Given the description of an element on the screen output the (x, y) to click on. 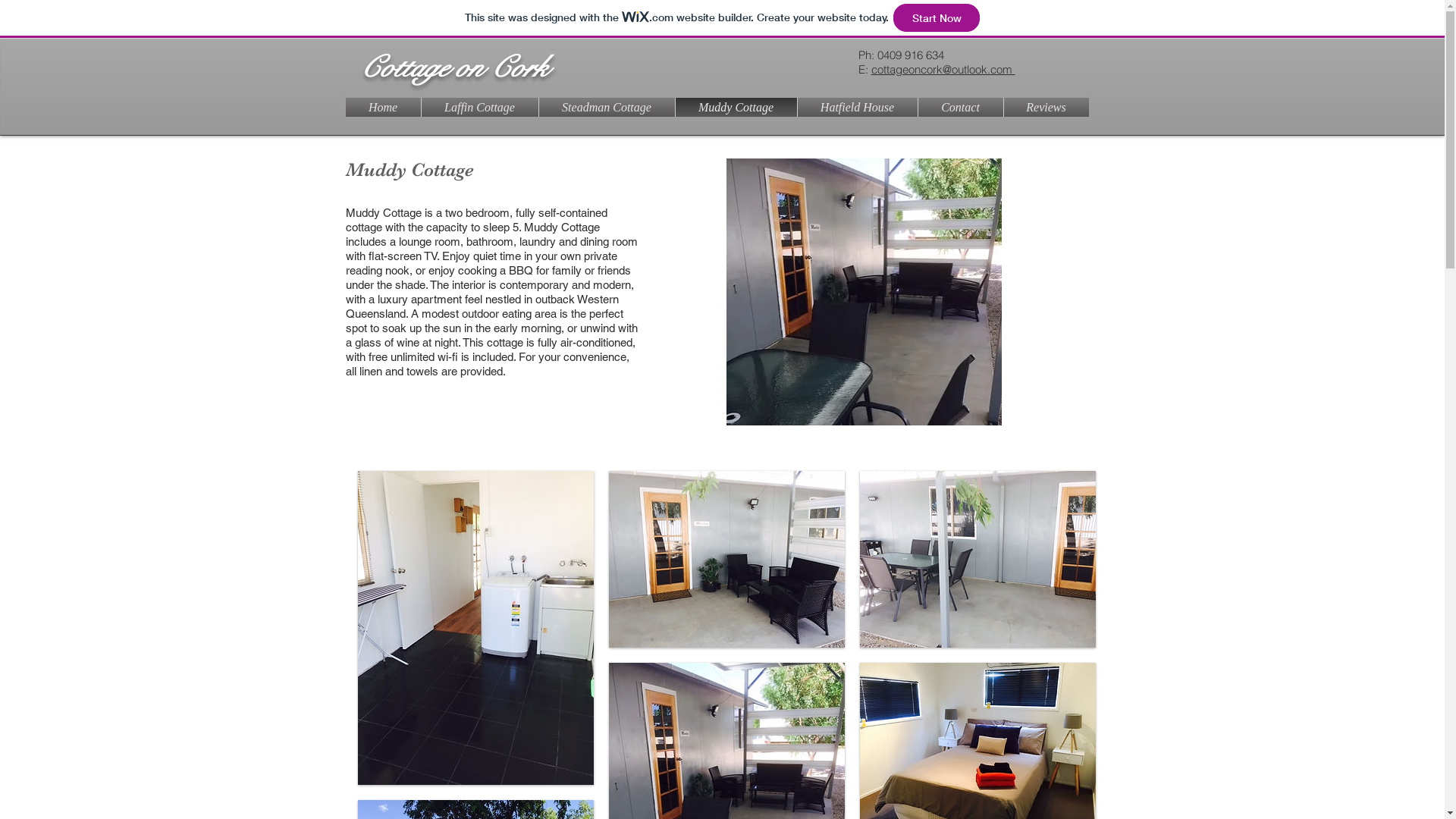
cottageoncork@outlook.com  Element type: text (942, 69)
Muddy Cottage Element type: text (735, 106)
Steadman Cottage Element type: text (606, 106)
Reviews Element type: text (1046, 106)
Contact Element type: text (959, 106)
Laffin Cottage Element type: text (479, 106)
Home Element type: text (382, 106)
Hatfield House Element type: text (857, 106)
